Given the description of an element on the screen output the (x, y) to click on. 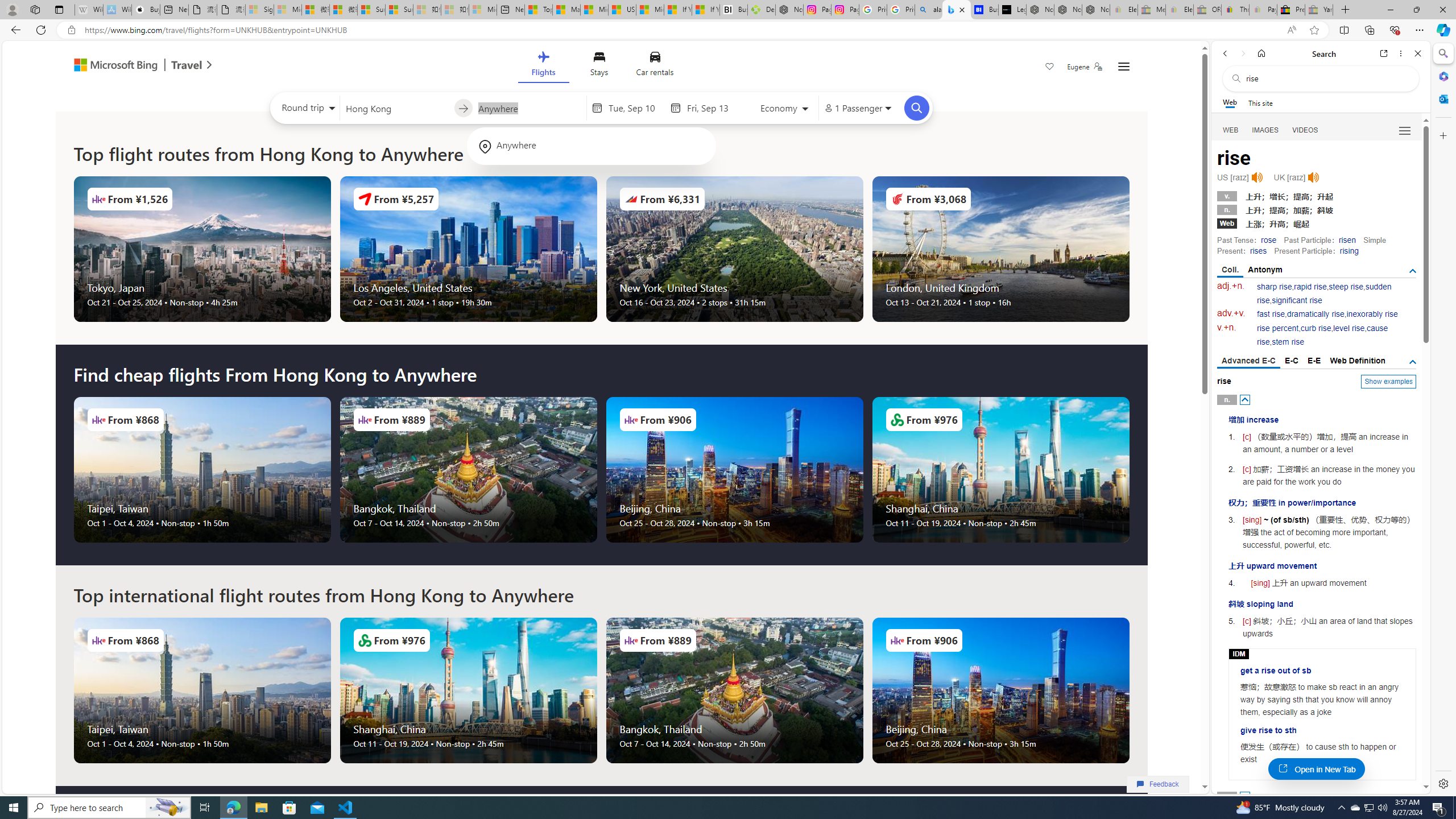
Payments Terms of Use | eBay.com - Sleeping (1262, 9)
Threats and offensive language policy | eBay (1235, 9)
rapid rise (1310, 286)
Going to? (528, 107)
sudden rise (1323, 293)
E-C (1291, 360)
steep rise (1345, 286)
